Given the description of an element on the screen output the (x, y) to click on. 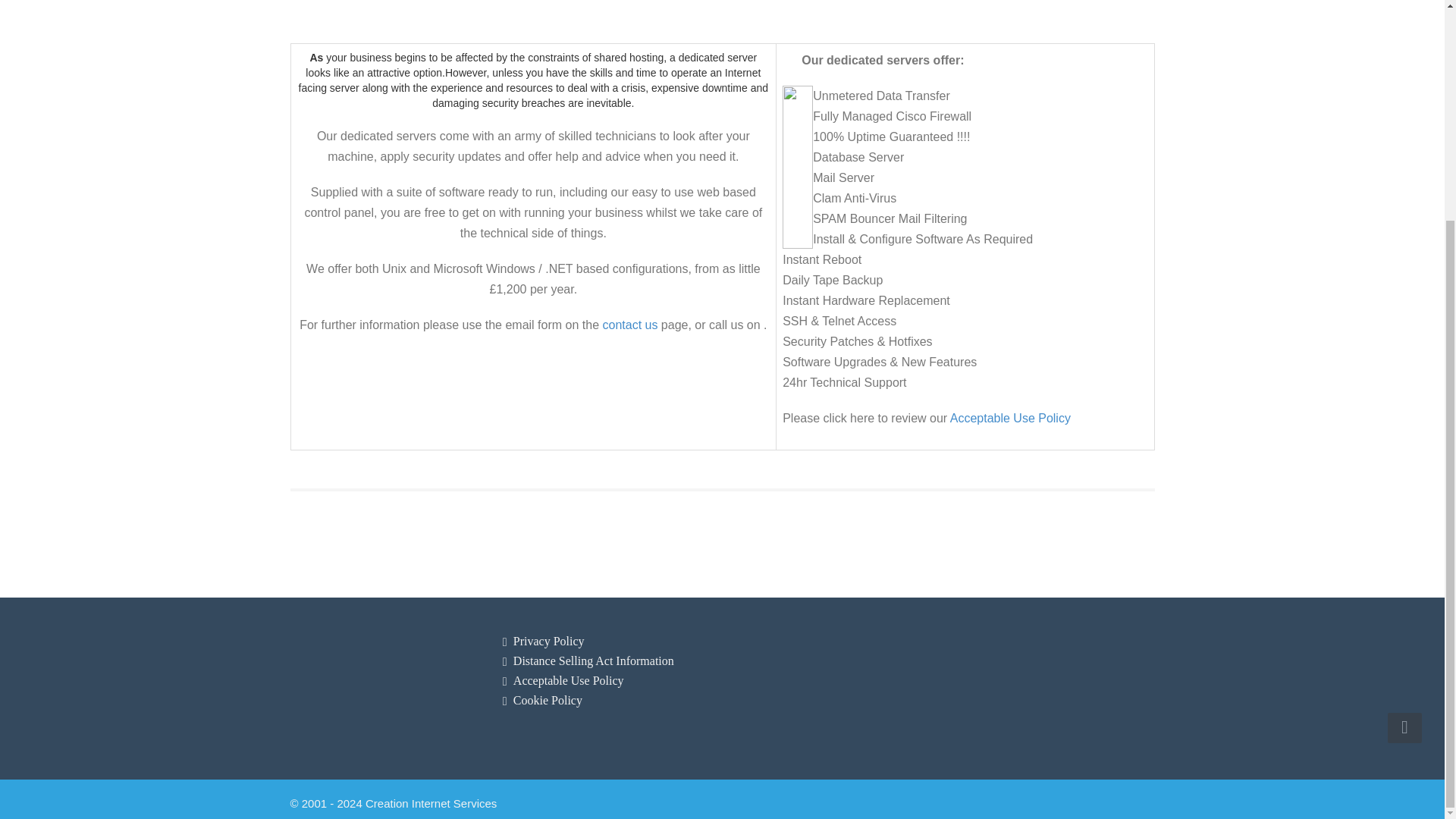
Cookie Policy (547, 699)
Acceptable Use Policy (1010, 418)
contact us (630, 324)
Privacy Policy (549, 640)
Acceptable Use Policy (568, 680)
Distance Selling Act Information (593, 660)
Go Top (1404, 435)
